Given the description of an element on the screen output the (x, y) to click on. 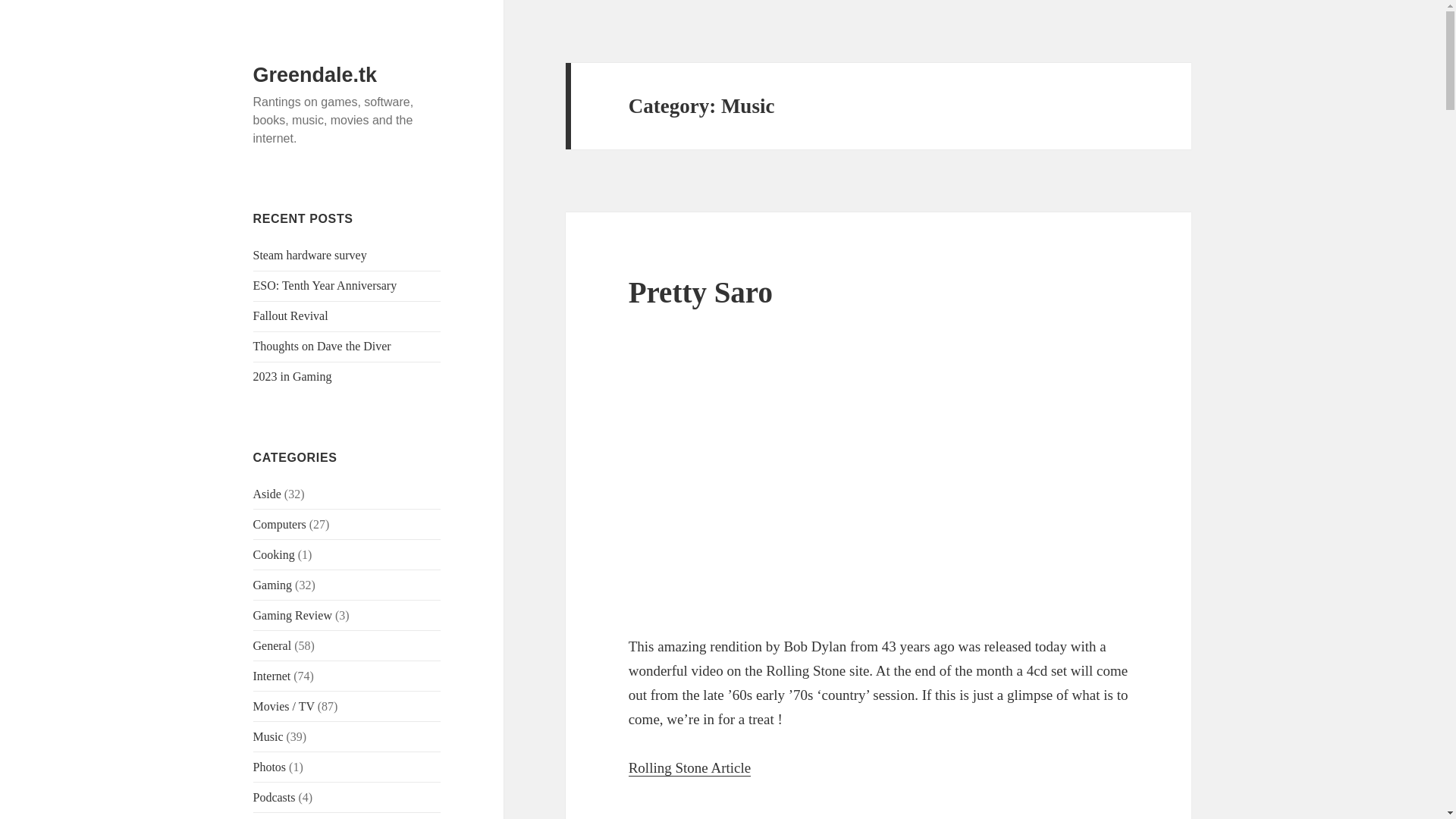
ESO: Tenth Year Anniversary (325, 285)
Greendale.tk (315, 74)
General (272, 645)
Podcasts (274, 797)
Steam hardware survey (309, 254)
Music (268, 736)
Internet (272, 675)
Gaming Review (292, 615)
Aside (267, 493)
Thoughts on Dave the Diver (322, 345)
Photos (269, 766)
Cooking (274, 554)
2023 in Gaming (292, 376)
Gaming (272, 584)
Fallout Revival (291, 315)
